Given the description of an element on the screen output the (x, y) to click on. 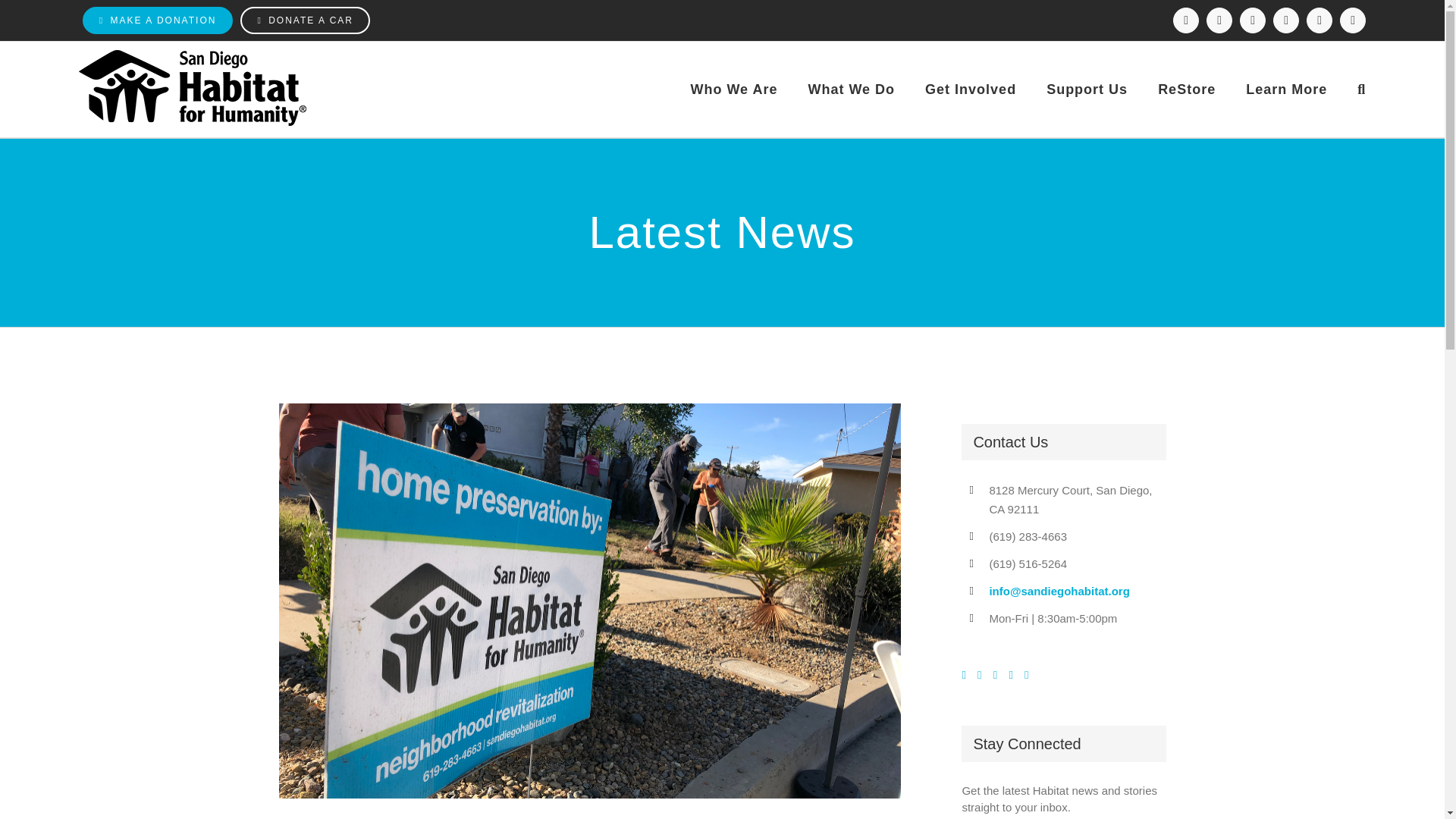
MAKE A DONATION (157, 20)
X (1252, 20)
Instagram (1219, 20)
YouTube (1319, 20)
LinkedIn (1285, 20)
YouTube (1319, 20)
LinkedIn (1285, 20)
Facebook (1185, 20)
Instagram (1219, 20)
Email (1352, 20)
